Given the description of an element on the screen output the (x, y) to click on. 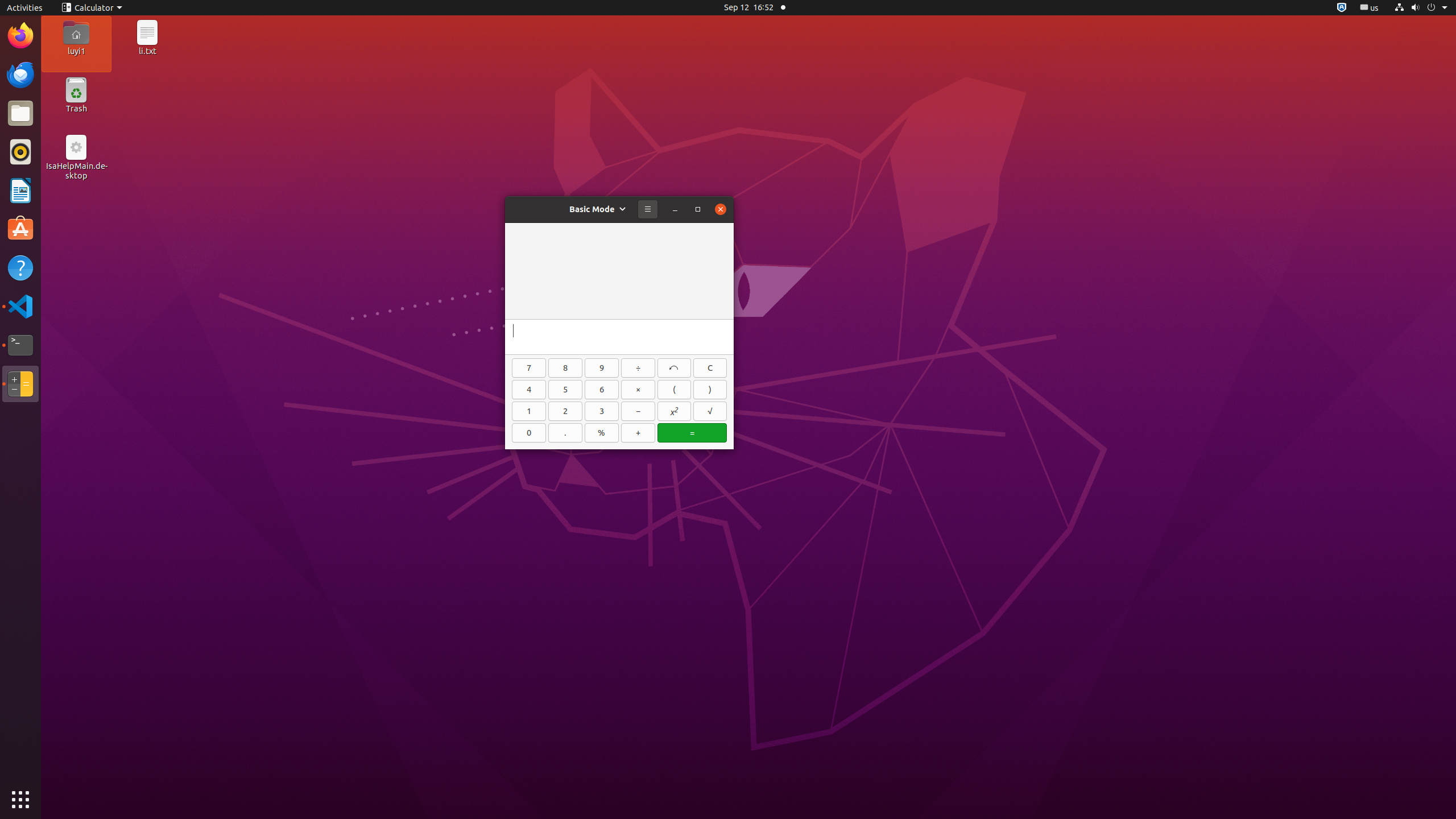
Minimize Element type: push-button (674, 208)
Terminal Element type: push-button (20, 344)
